Given the description of an element on the screen output the (x, y) to click on. 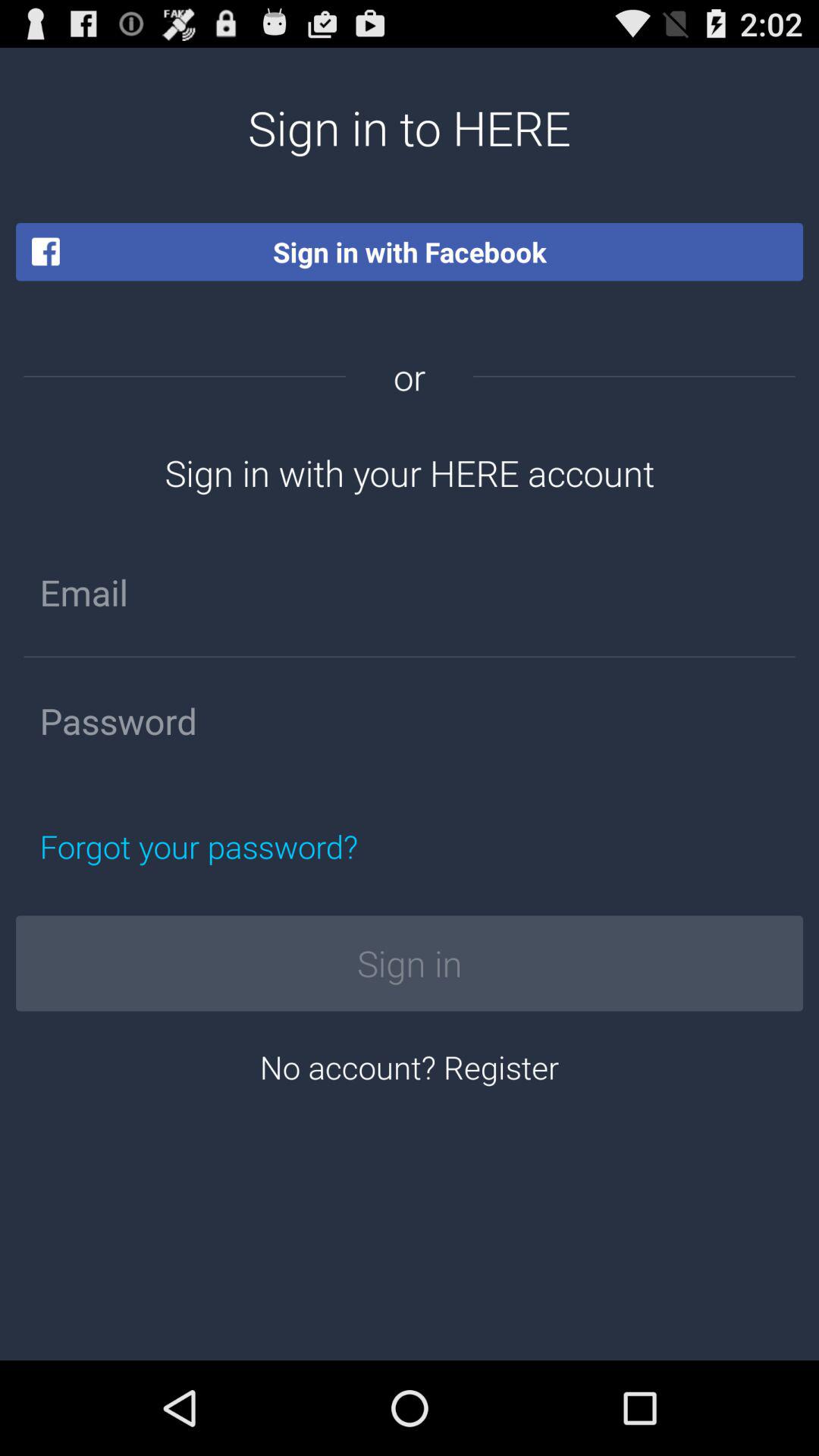
enter password (409, 720)
